Given the description of an element on the screen output the (x, y) to click on. 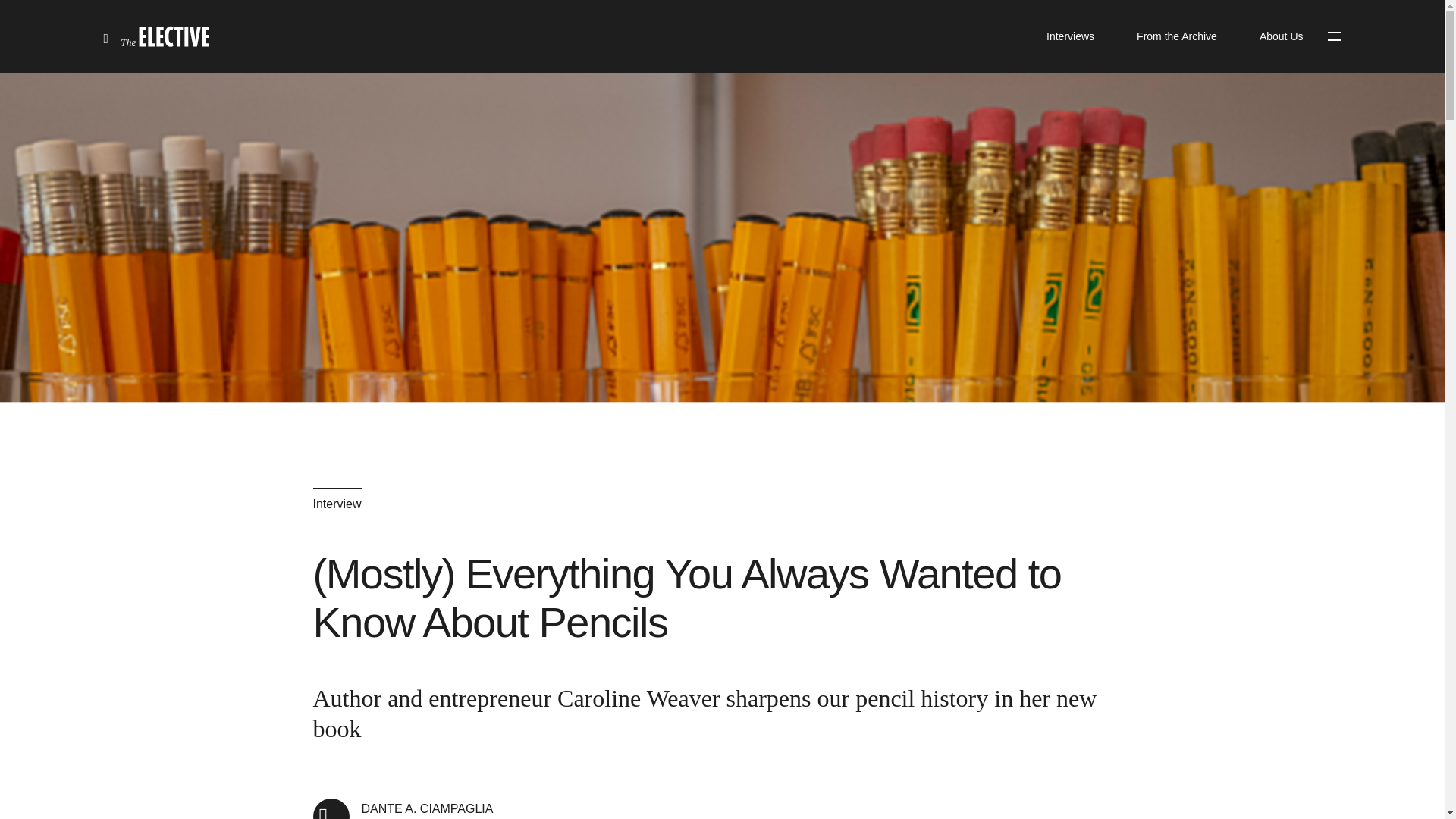
Interviews (1069, 36)
From the Archive (403, 808)
About Us (1176, 36)
Open Site Navigation (1281, 36)
